Given the description of an element on the screen output the (x, y) to click on. 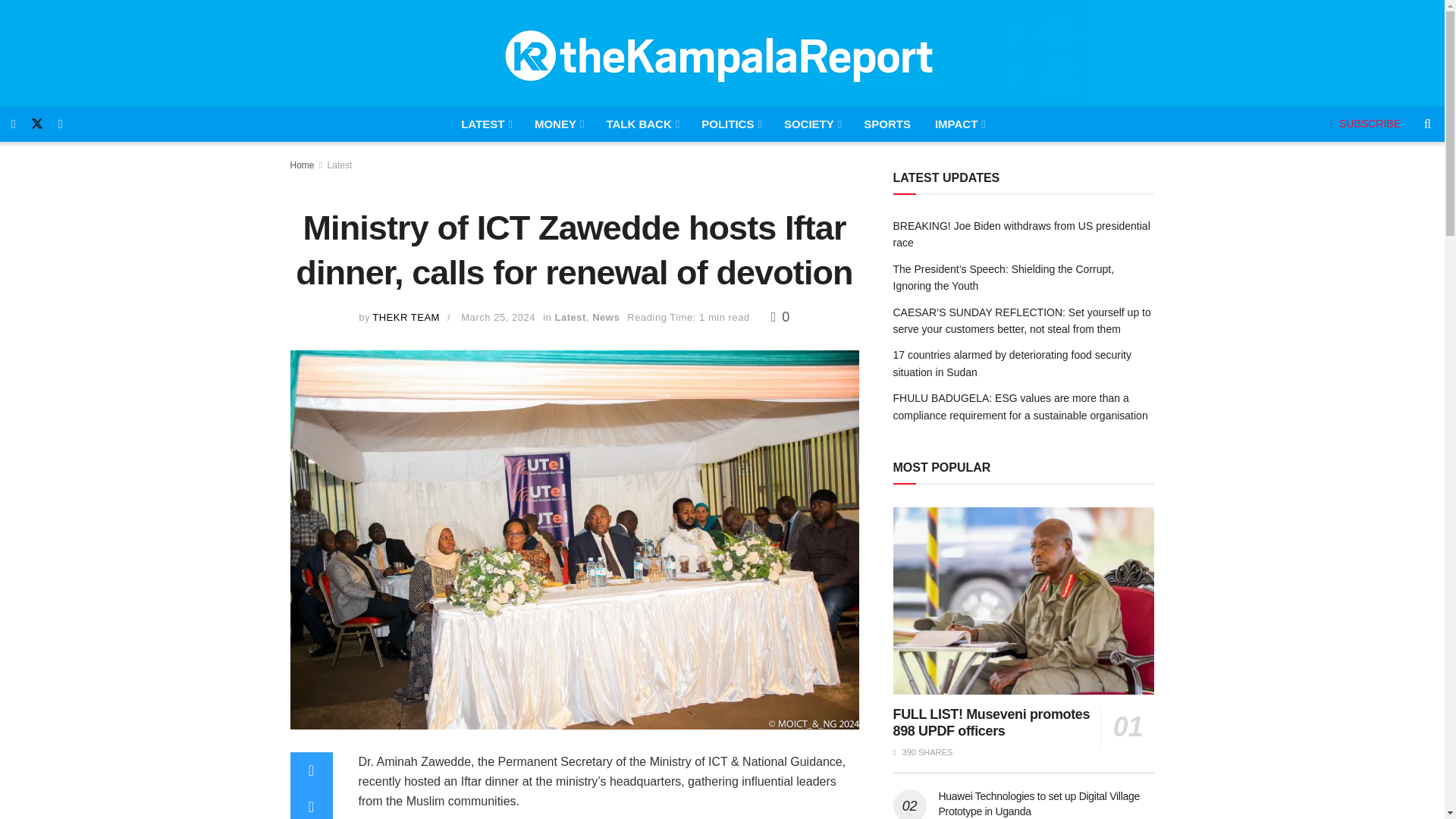
POLITICS (729, 123)
LATEST (485, 123)
SPORTS (887, 123)
TALK BACK (641, 123)
SOCIETY (811, 123)
SUBSCRIBE (1365, 123)
IMPACT (959, 123)
MONEY (558, 123)
